Given the description of an element on the screen output the (x, y) to click on. 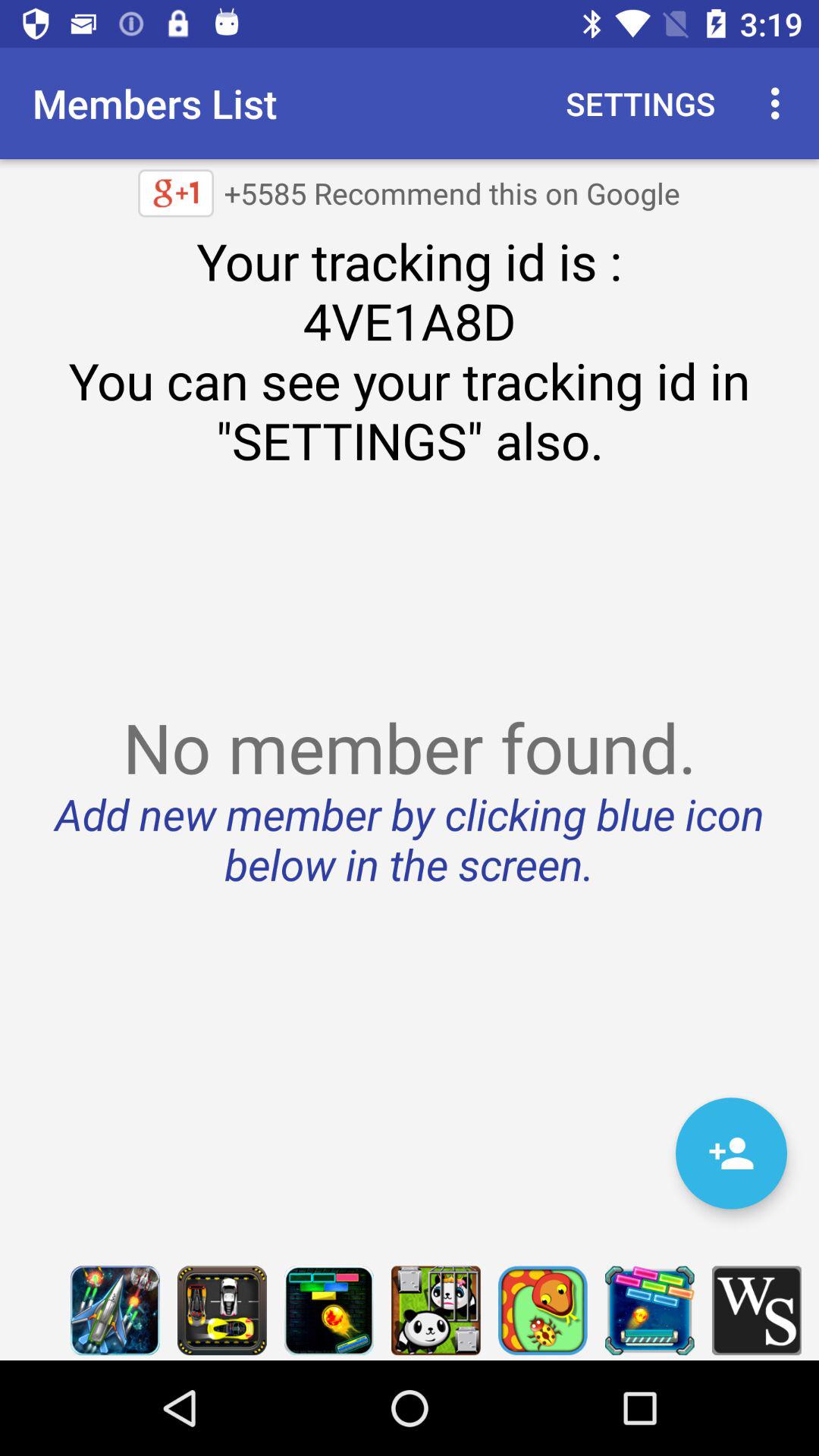
tap the icon below no member found item (731, 1153)
